Given the description of an element on the screen output the (x, y) to click on. 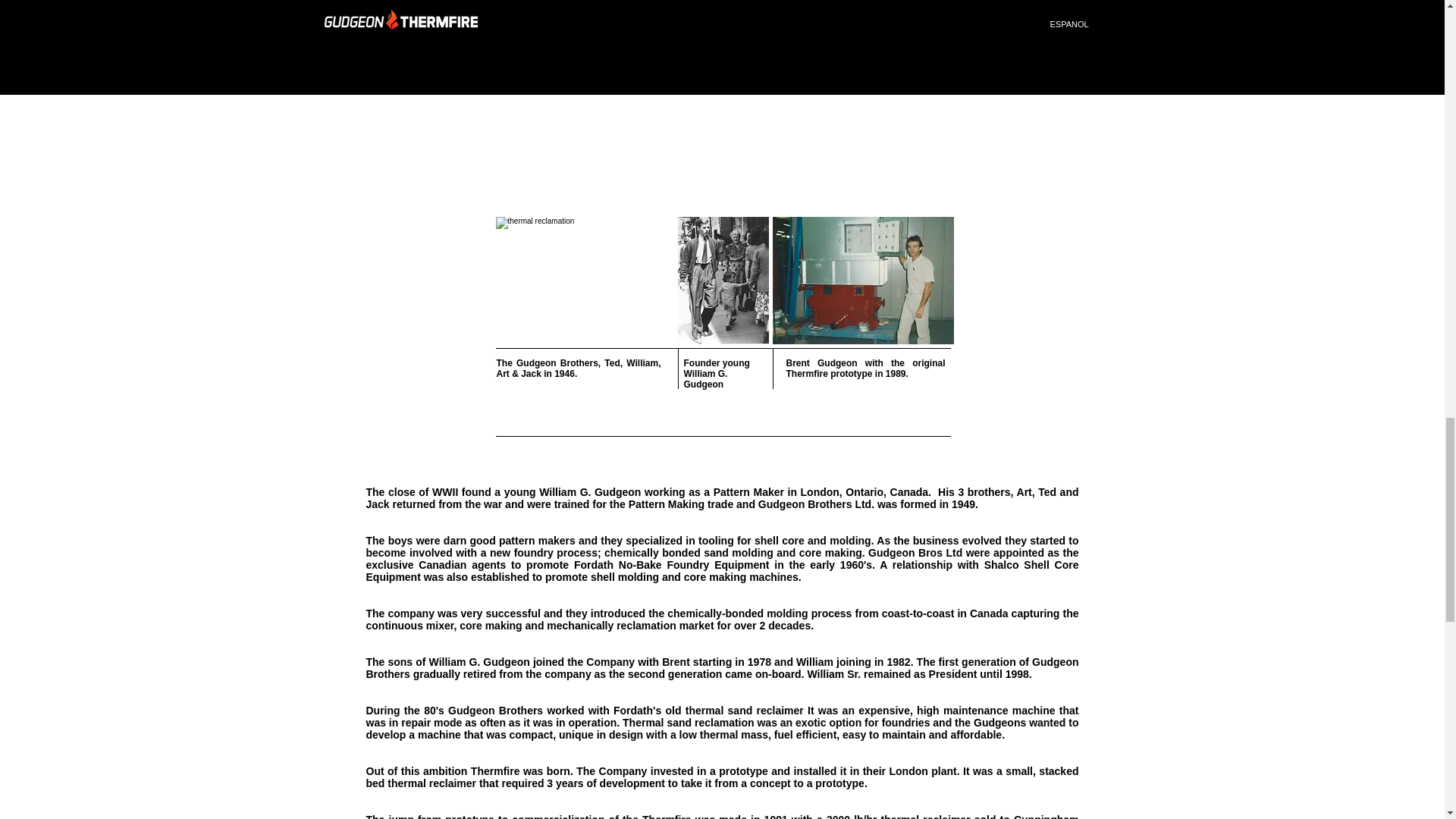
thermal sand reclamation (862, 280)
thermal sand reclamation (584, 280)
